Given the description of an element on the screen output the (x, y) to click on. 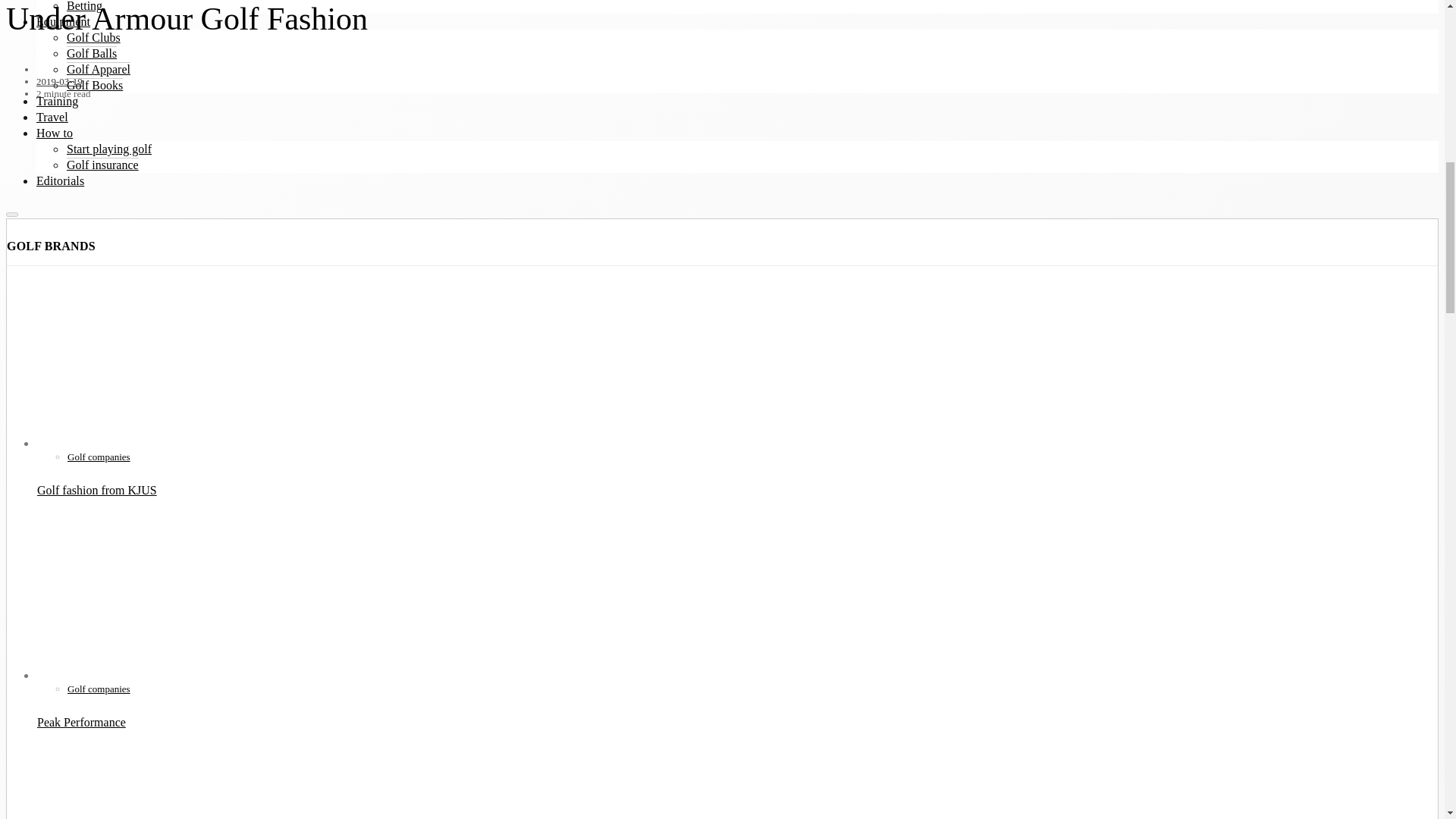
Garmin (128, 784)
Betting (83, 6)
Equipment (63, 21)
Golf fashion from KJUS (158, 366)
Peak Performance (158, 598)
